Given the description of an element on the screen output the (x, y) to click on. 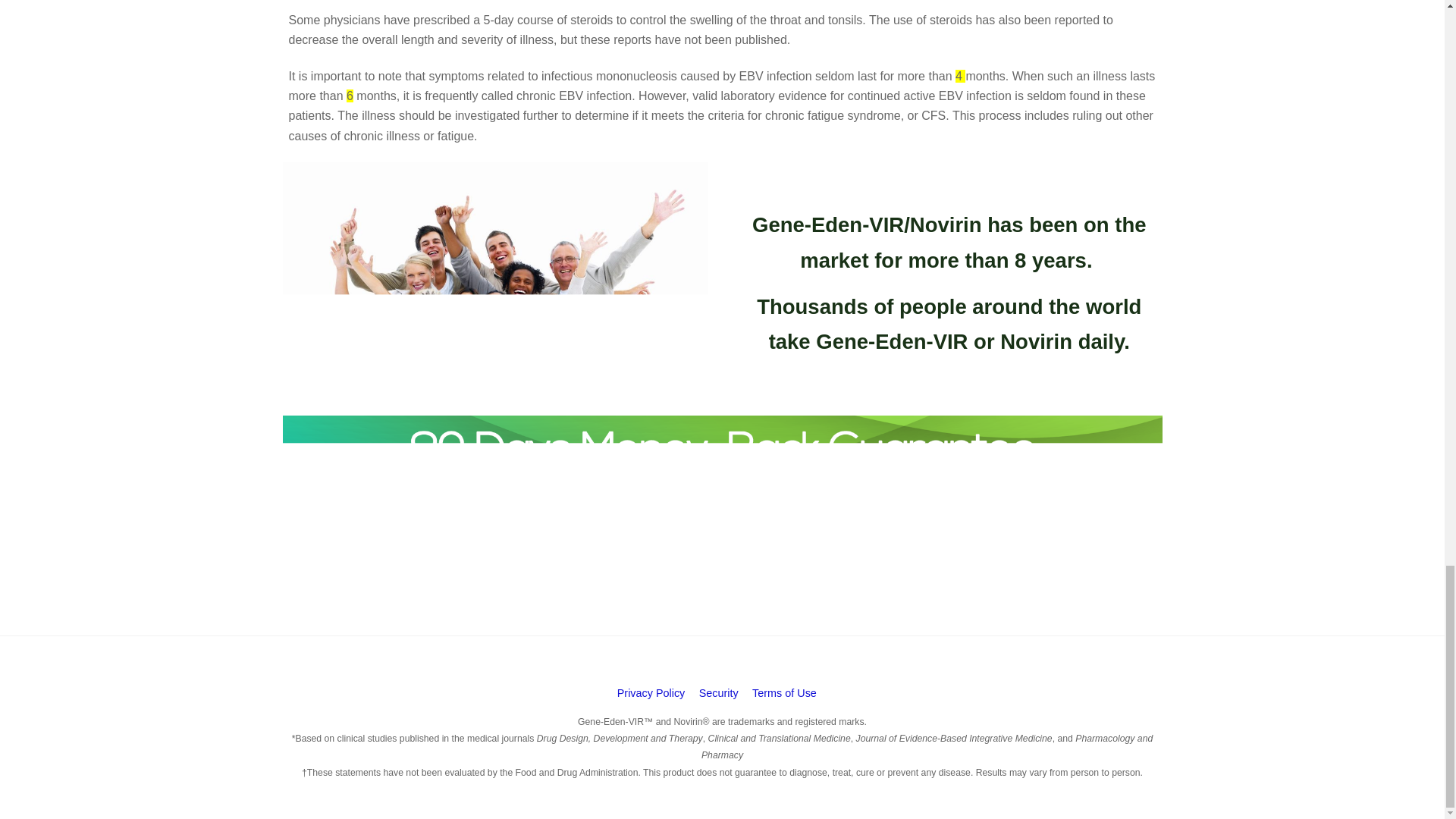
Security (718, 693)
Privacy Policy (651, 693)
Terms of Use (784, 693)
